Given the description of an element on the screen output the (x, y) to click on. 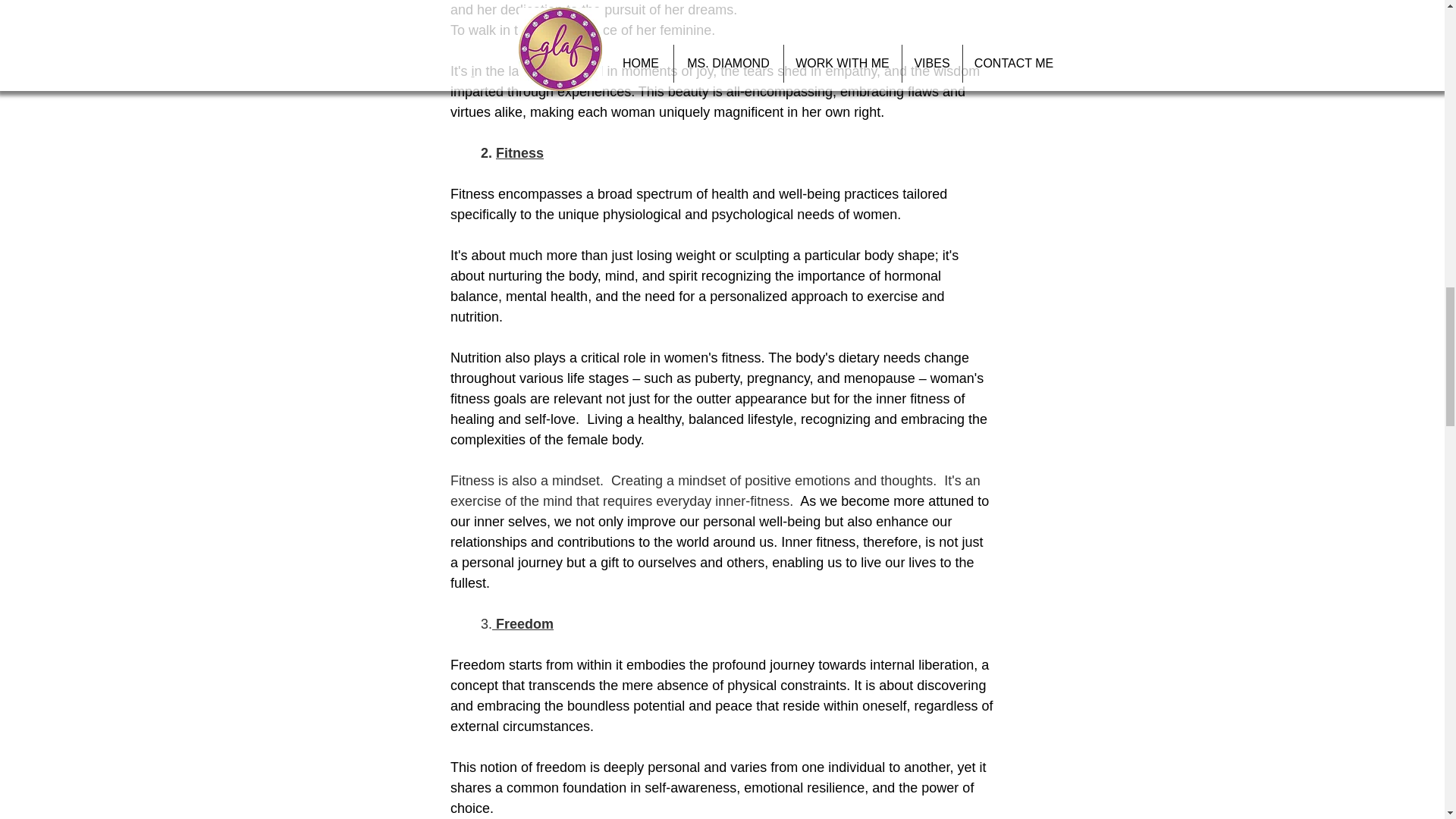
It (453, 70)
